Given the description of an element on the screen output the (x, y) to click on. 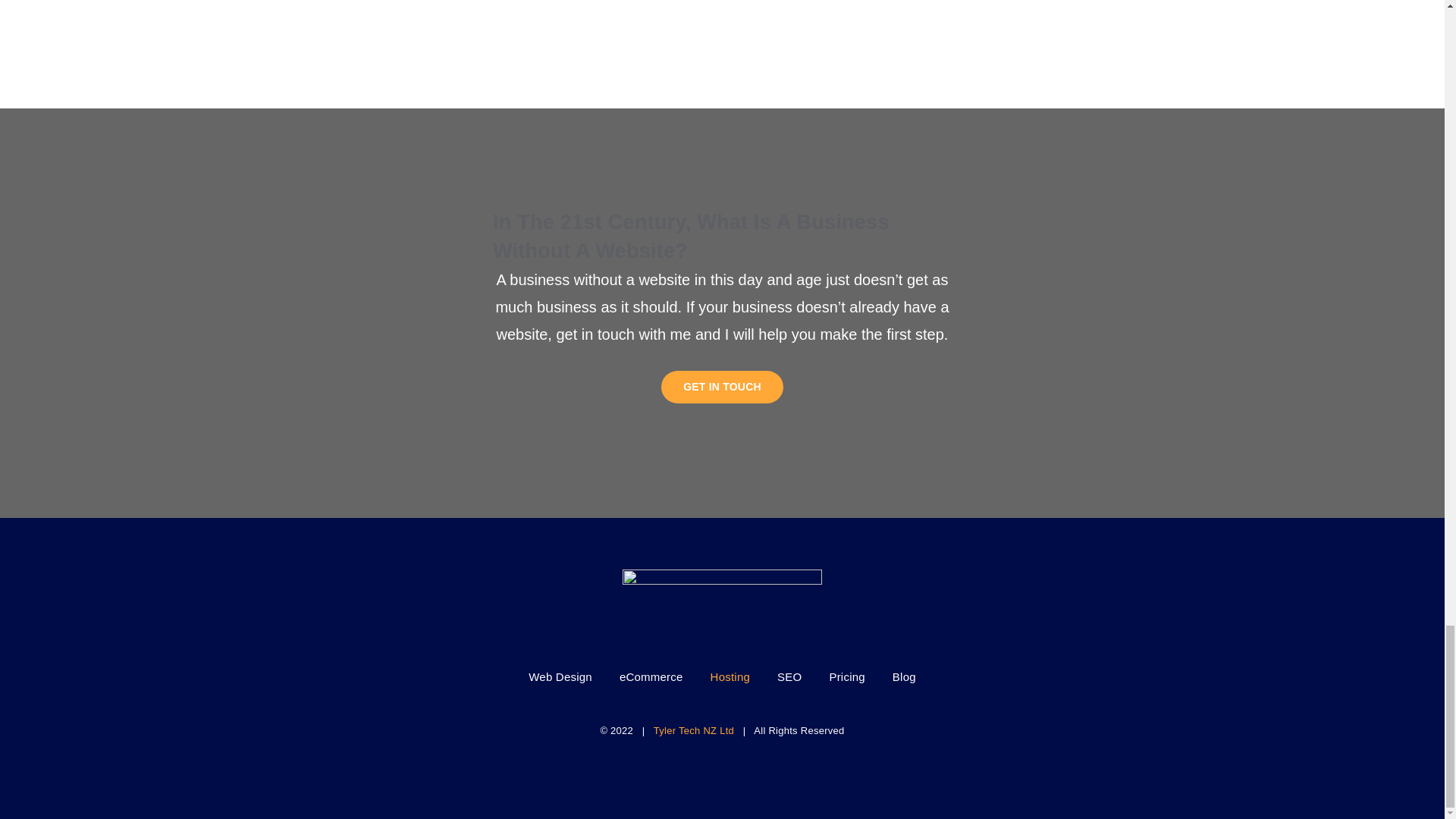
Tyler Tech NZ Ltd (693, 730)
eCommerce (651, 677)
Web Design (560, 677)
logo-white (722, 597)
GET IN TOUCH (722, 387)
